Given the description of an element on the screen output the (x, y) to click on. 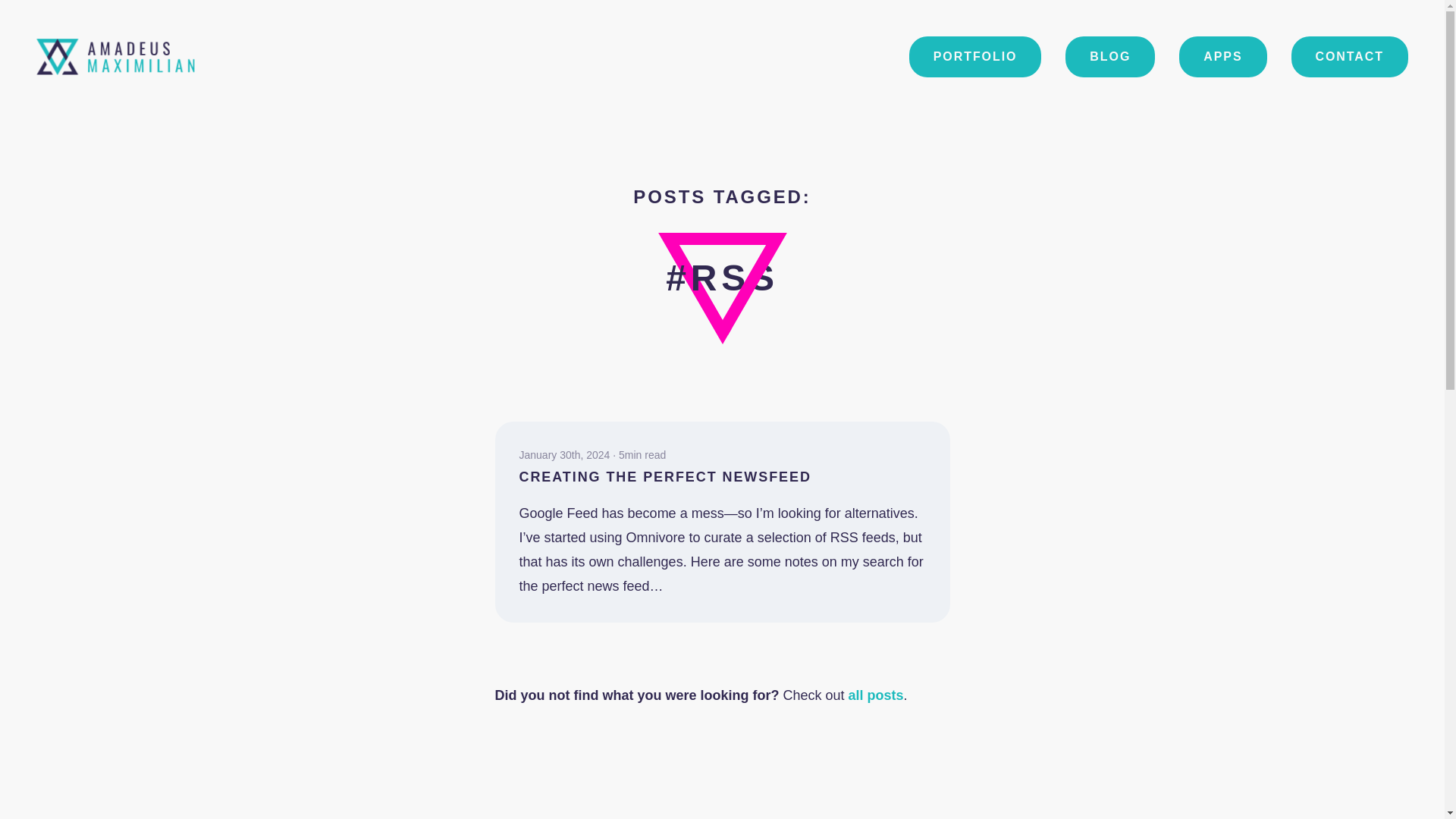
APPS (1222, 56)
PORTFOLIO (975, 56)
CONTACT (1349, 56)
BLOG (1109, 56)
all posts (876, 695)
